Given the description of an element on the screen output the (x, y) to click on. 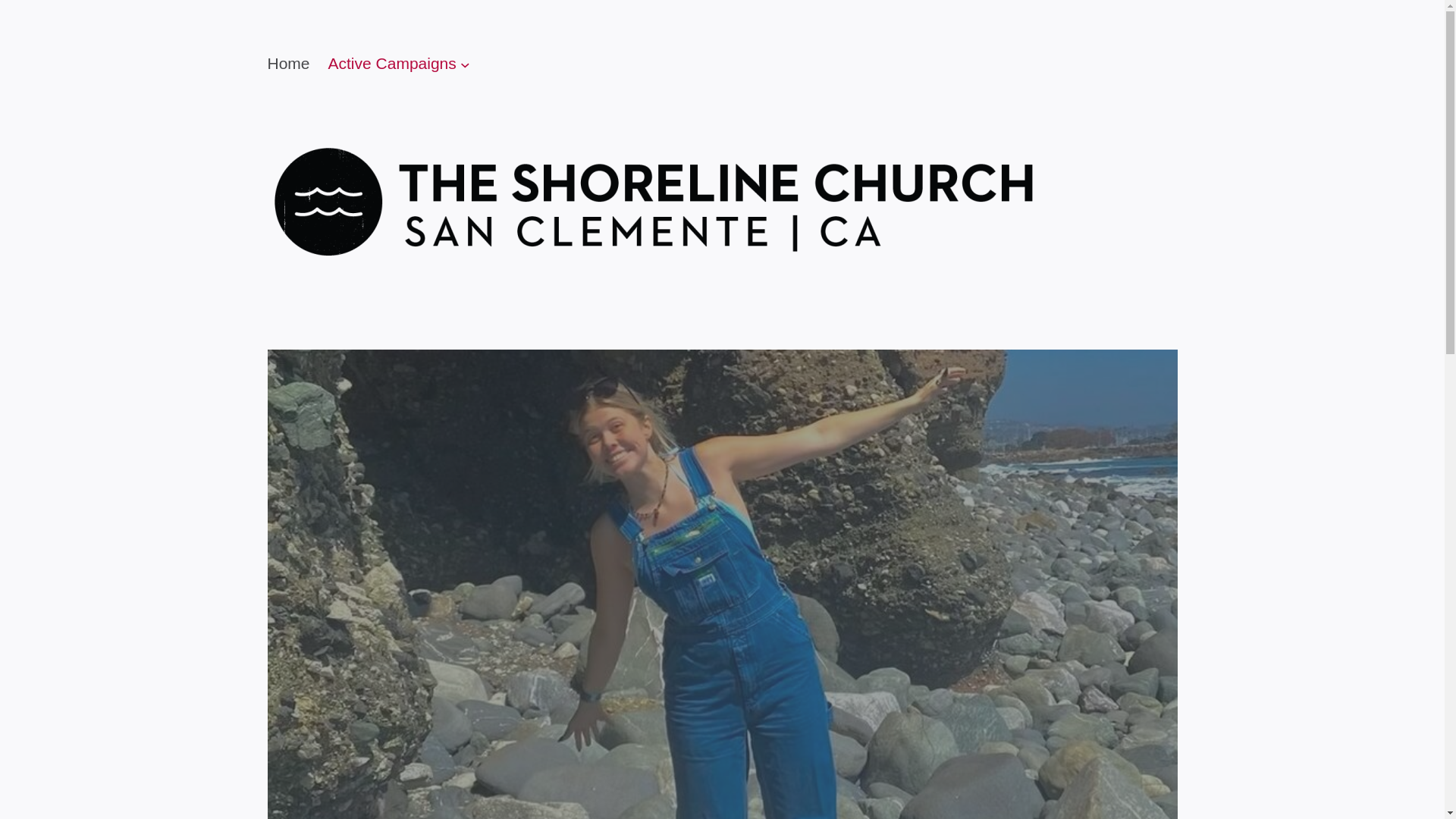
Home (287, 63)
Active Campaigns (393, 63)
